Given the description of an element on the screen output the (x, y) to click on. 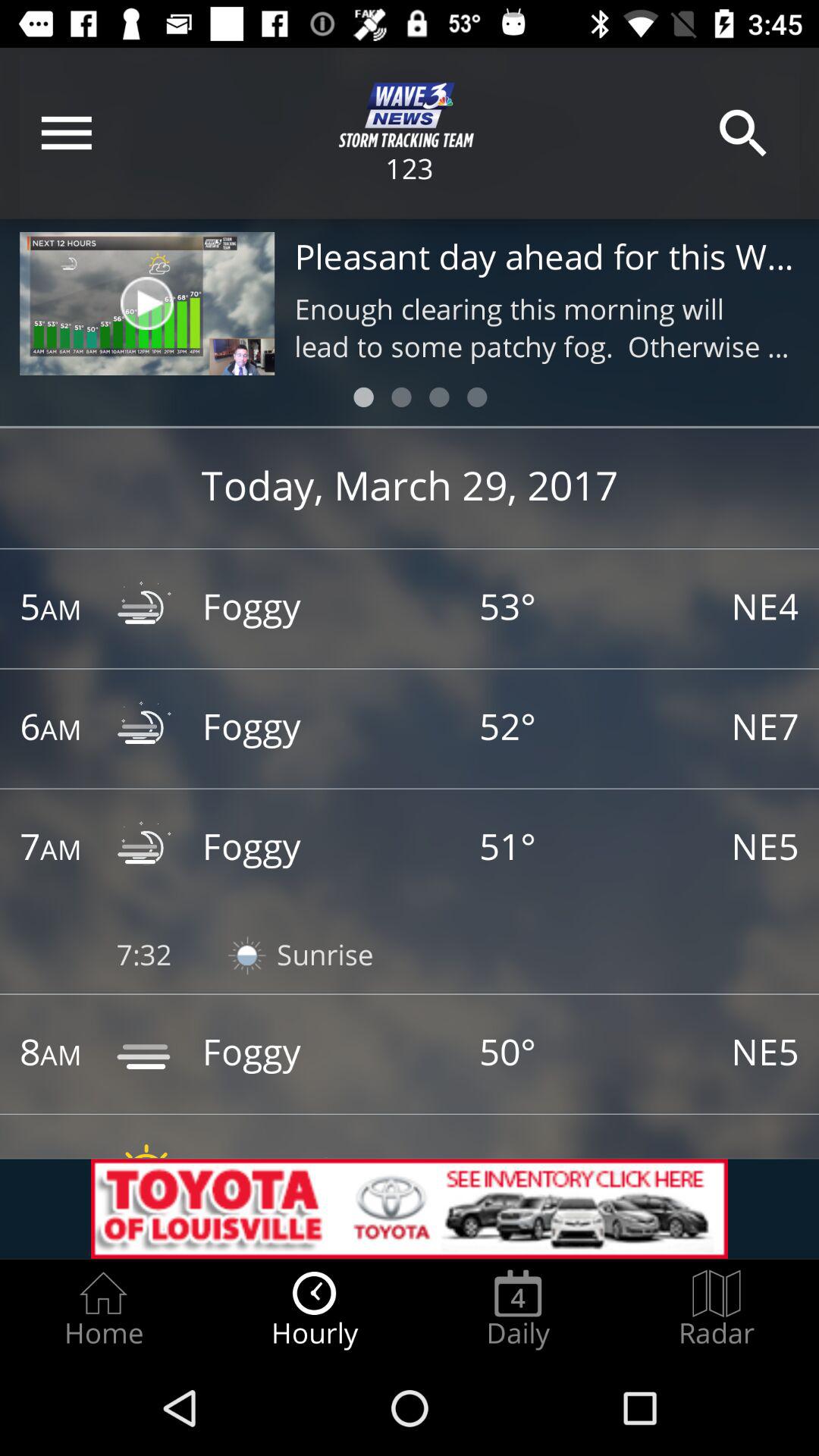
press the item next to the hourly radio button (518, 1309)
